Given the description of an element on the screen output the (x, y) to click on. 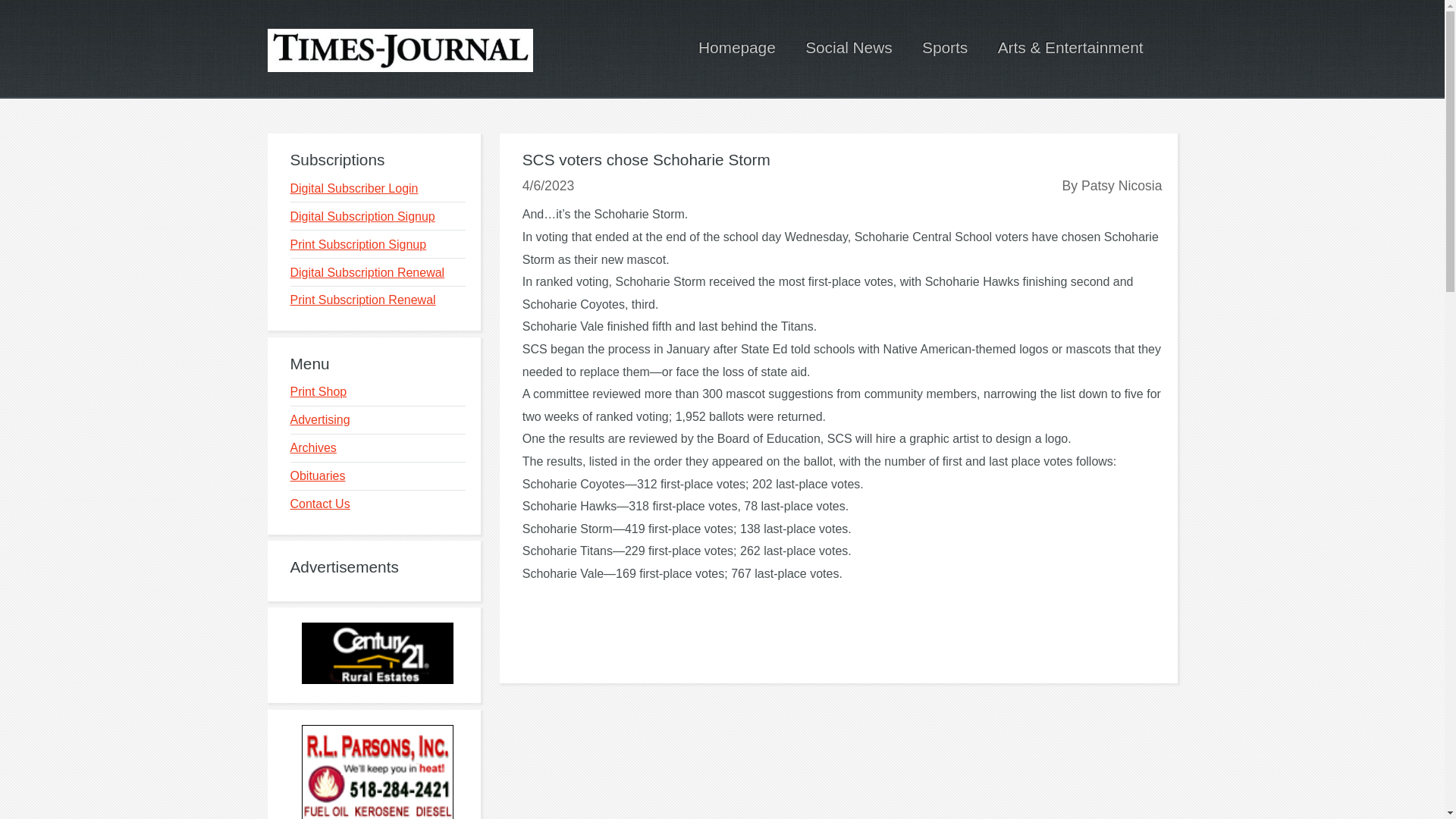
Digital Subscriber Login (353, 187)
Digital Subscription Signup (361, 215)
Advertising (319, 419)
Times-Journal Online (399, 50)
Print Subscription Signup (357, 244)
Sports (944, 47)
Print Shop (317, 391)
Contact Us (319, 503)
Print Subscription Renewal (362, 299)
Homepage (737, 47)
